Given the description of an element on the screen output the (x, y) to click on. 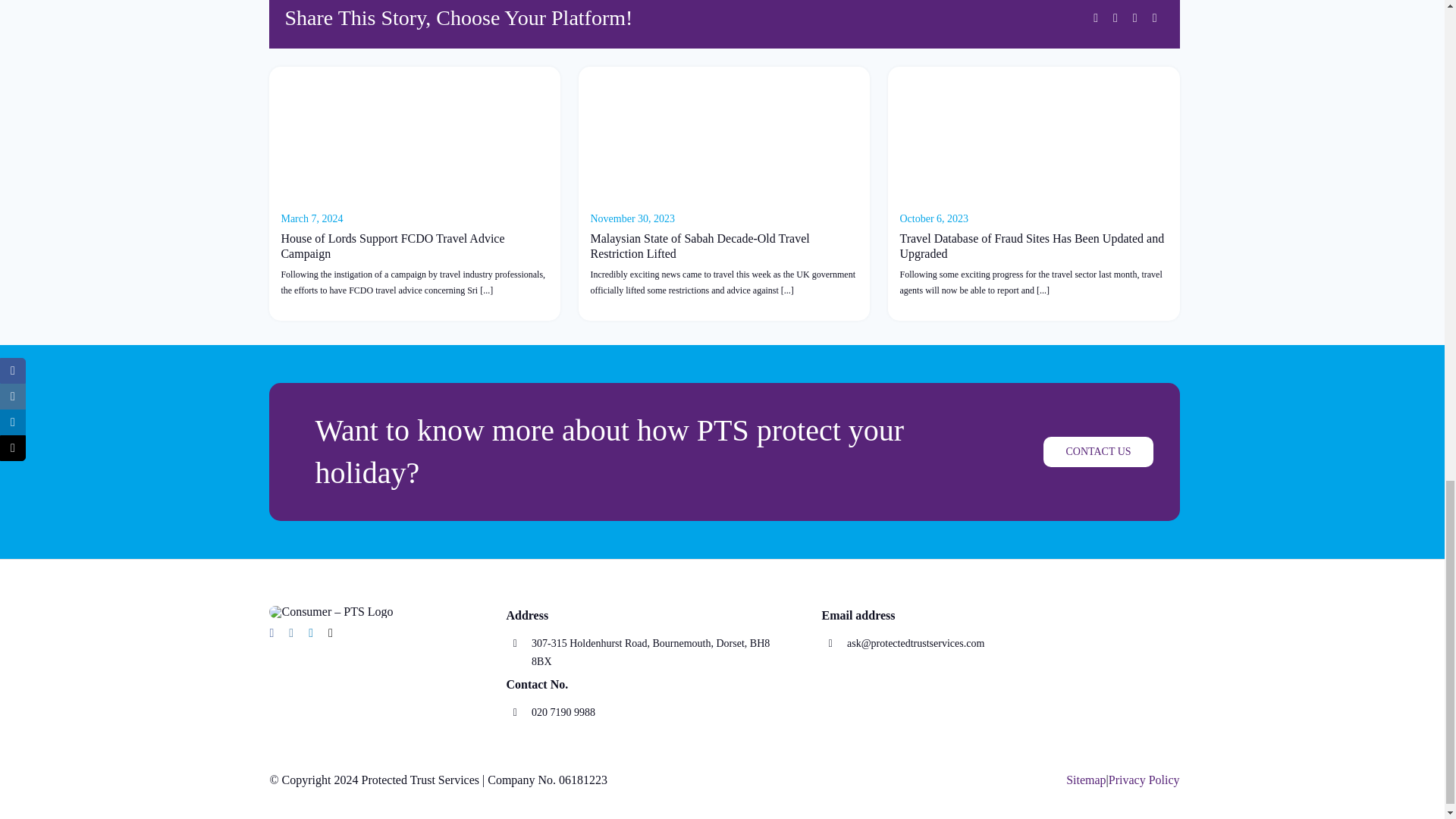
fraud-sites (1033, 134)
state-of-sabah (723, 134)
Email (1154, 17)
X (1115, 17)
fcdo-travel-advice (414, 134)
LinkedIn (1134, 17)
Facebook (1095, 17)
